Given the description of an element on the screen output the (x, y) to click on. 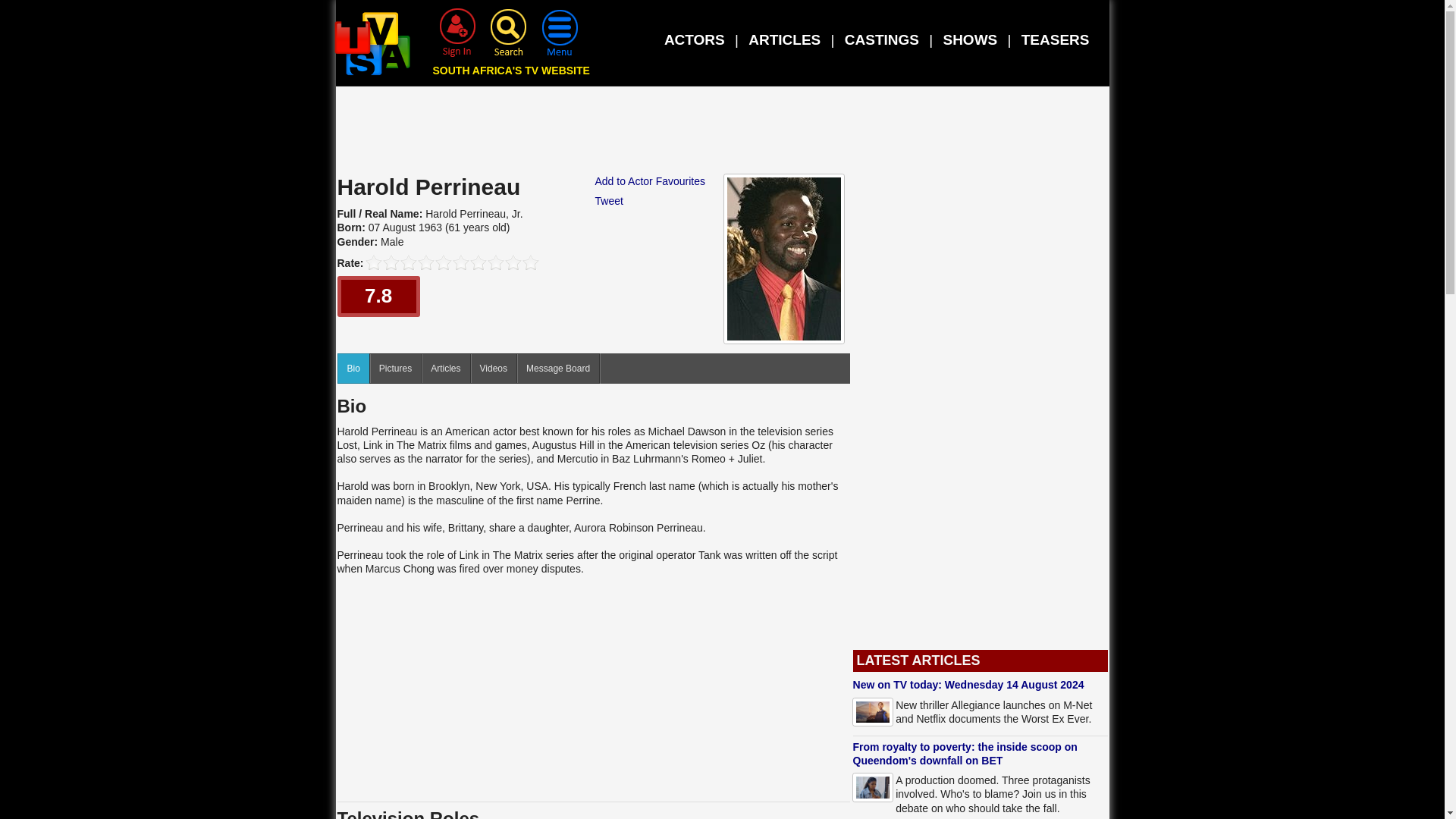
Advertisement (592, 688)
TEASERS (1055, 39)
ARTICLES (784, 39)
ACTORS (694, 39)
CASTINGS (881, 39)
Advertisement (722, 133)
SHOWS (969, 39)
